Given the description of an element on the screen output the (x, y) to click on. 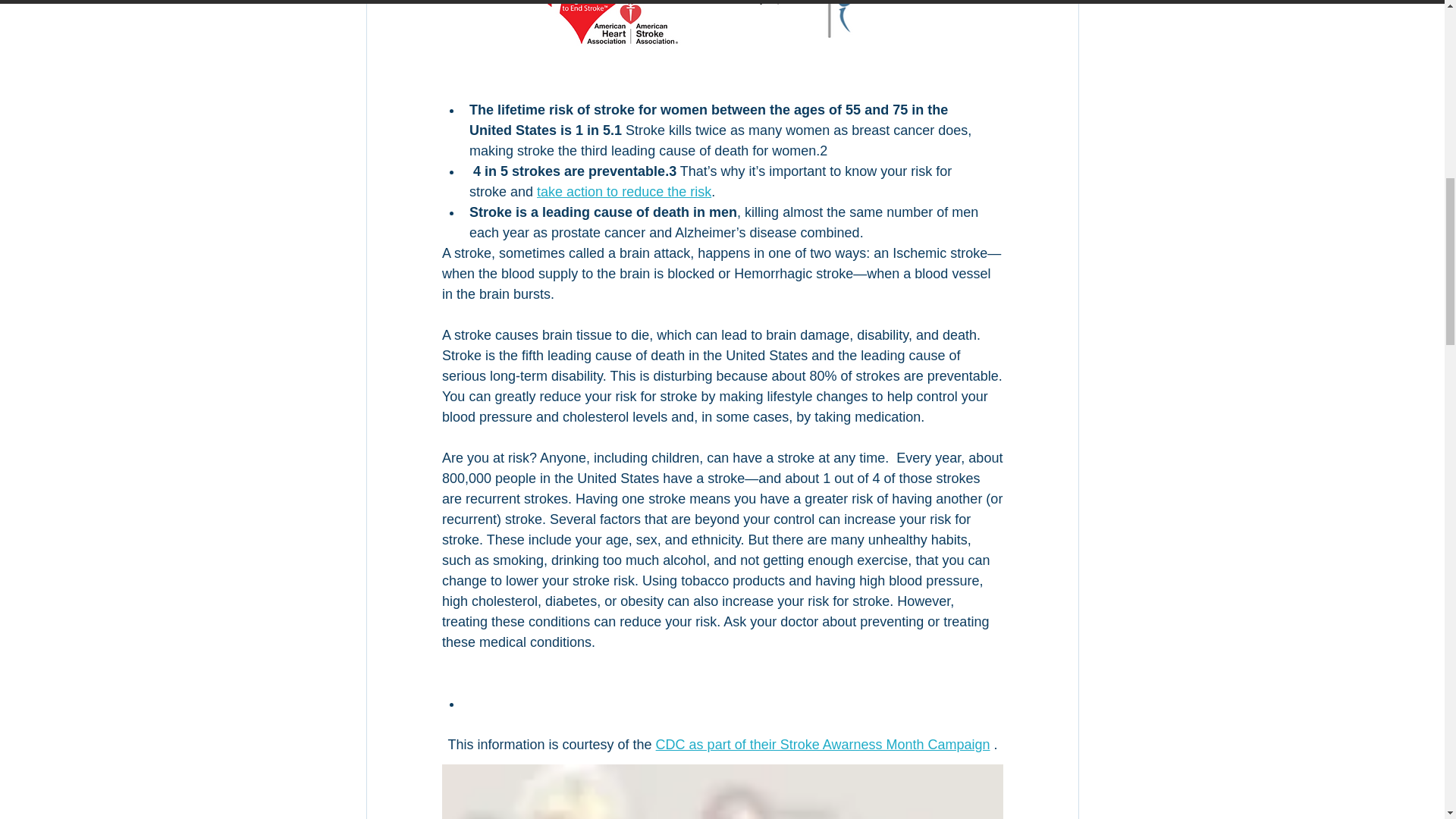
take action to reduce the risk (624, 191)
CDC as part of their Stroke Awarness Month Campaign (822, 744)
